Given the description of an element on the screen output the (x, y) to click on. 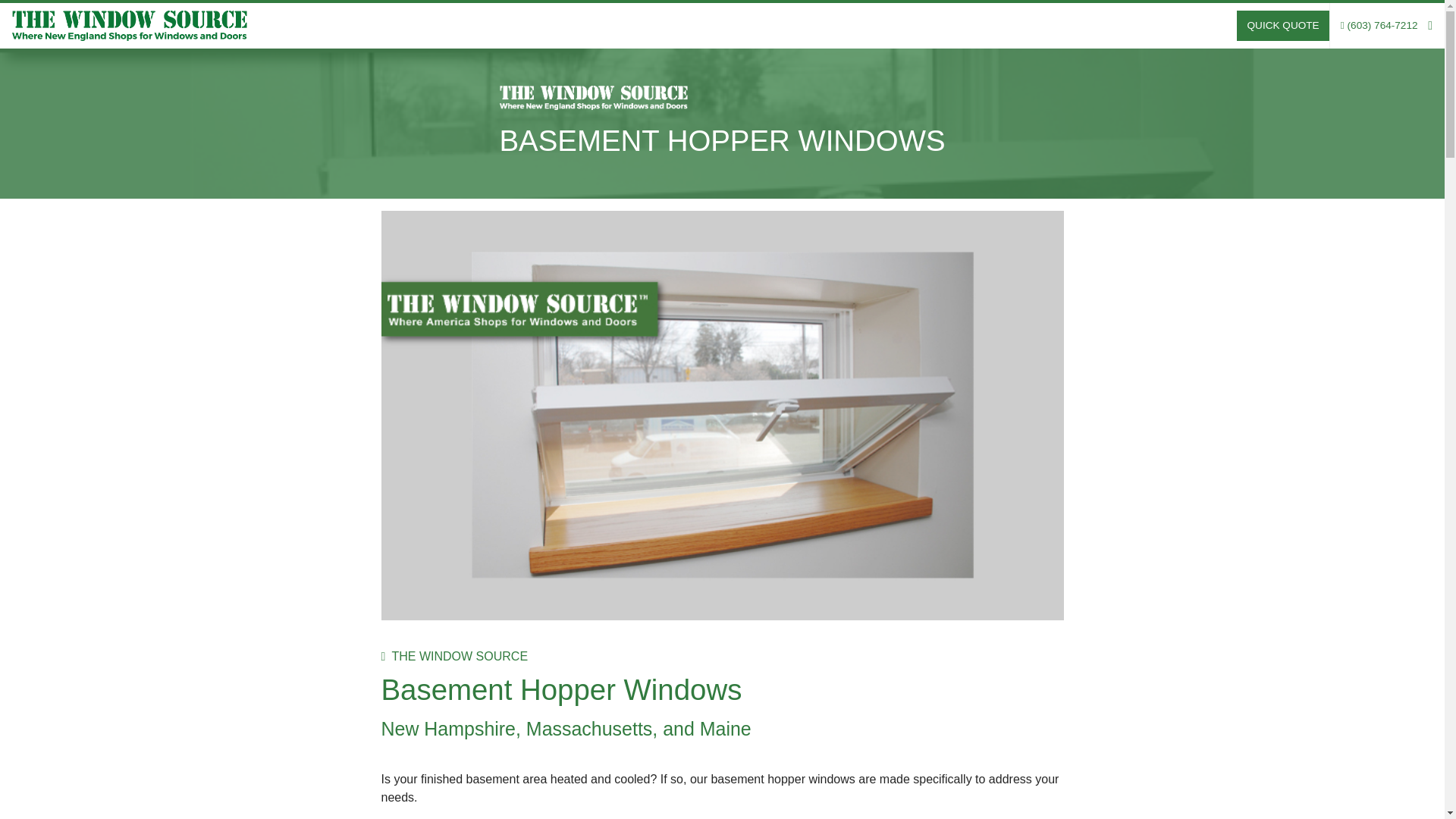
QUICK QUOTE (1282, 25)
BASEMENT HOPPER WINDOWS (721, 140)
